Given the description of an element on the screen output the (x, y) to click on. 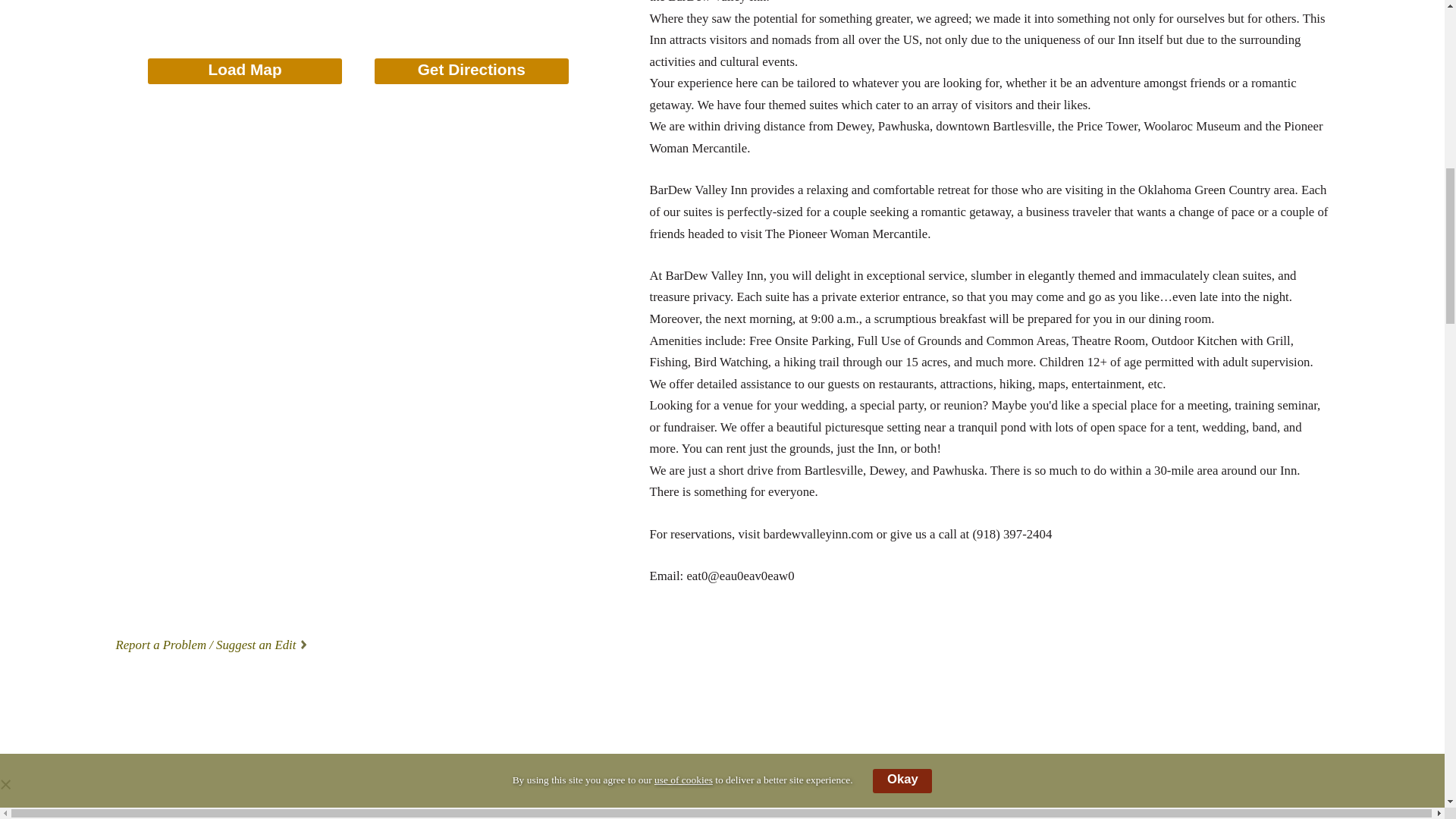
Get directions (471, 71)
Load the map into this window (245, 71)
